Given the description of an element on the screen output the (x, y) to click on. 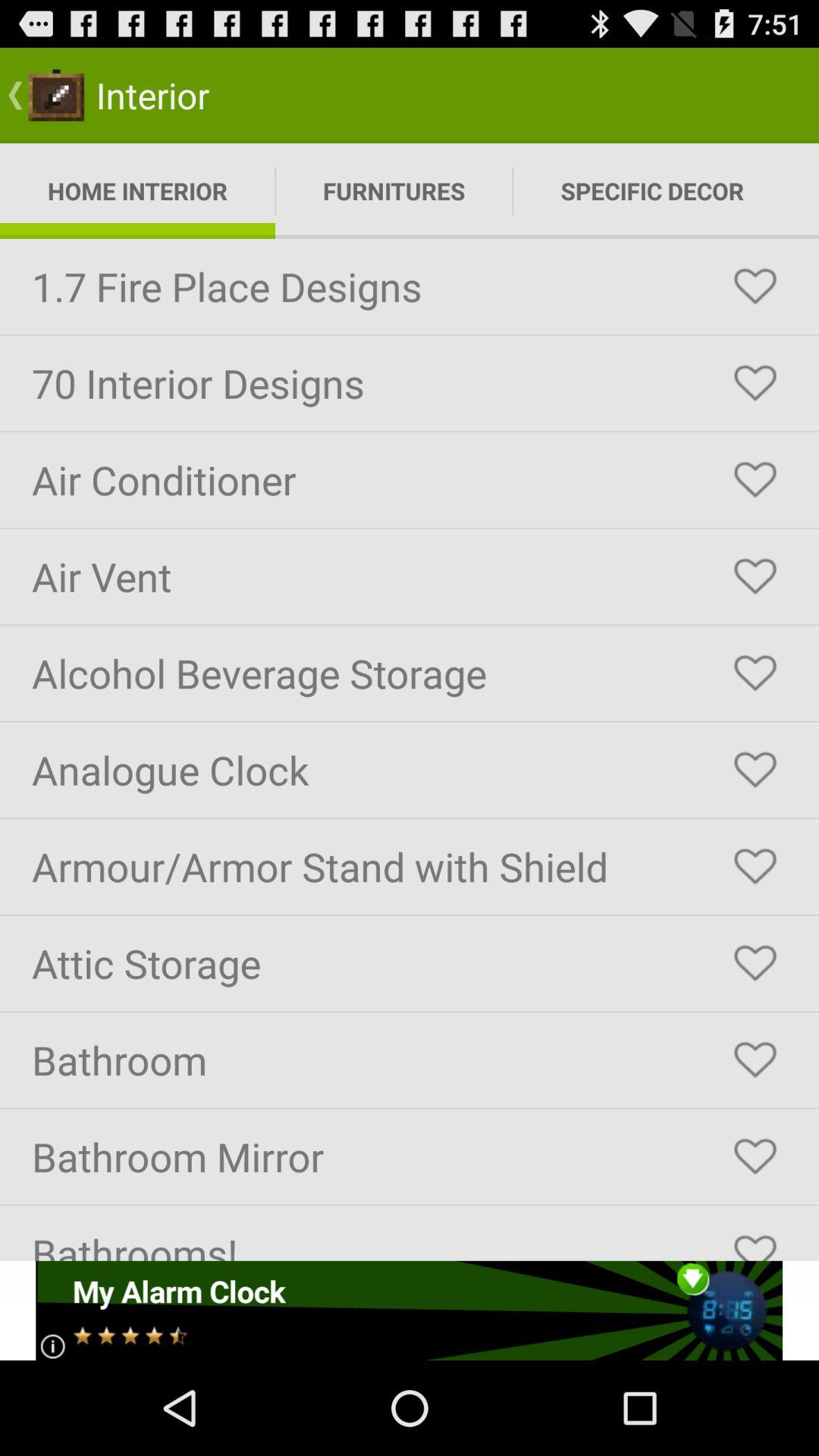
like button (755, 769)
